Given the description of an element on the screen output the (x, y) to click on. 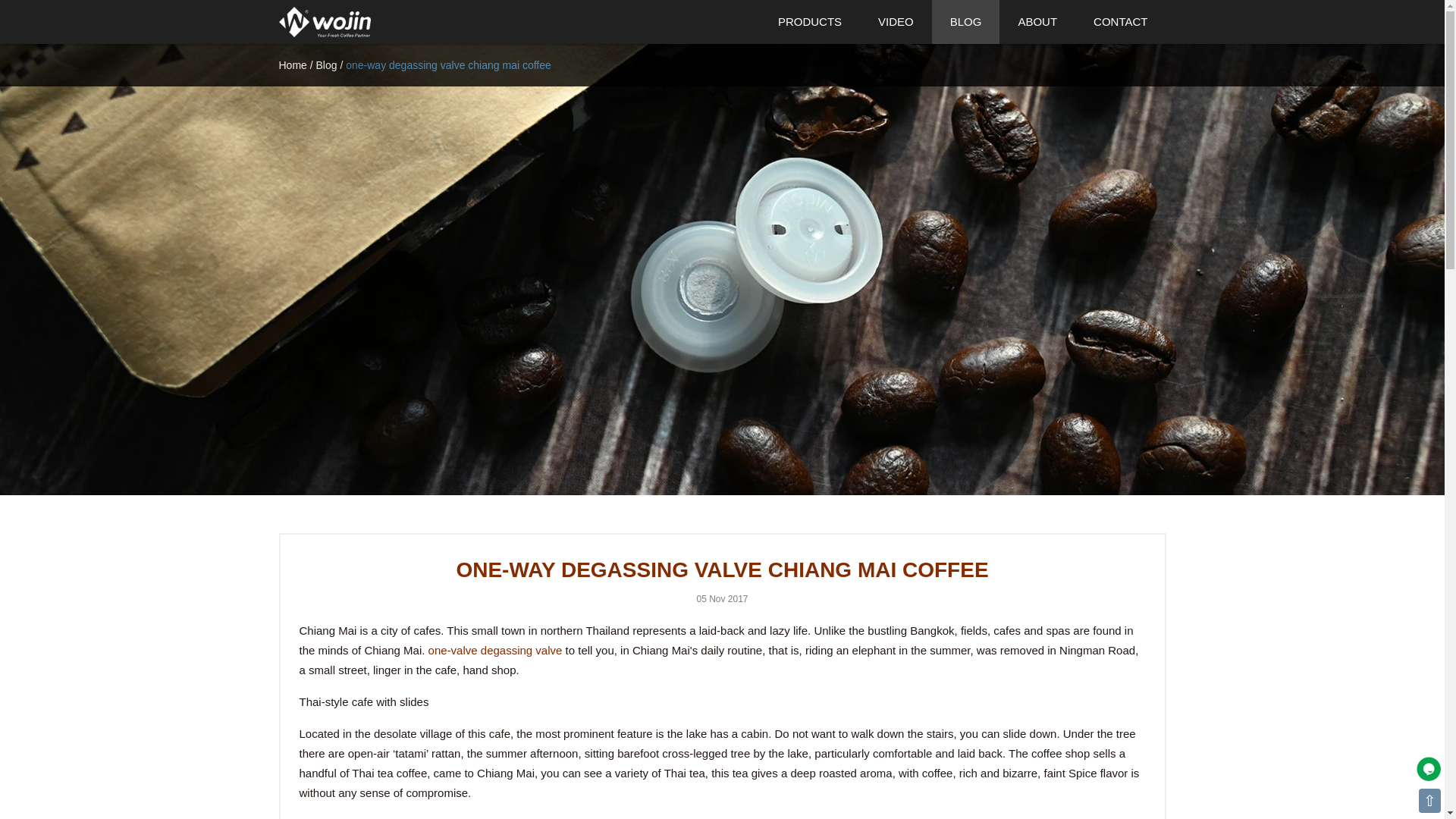
BLOG (965, 22)
Home (293, 64)
Blog (326, 64)
PRODUCTS (810, 22)
ABOUT (1036, 22)
VIDEO (895, 22)
CONTACT (1120, 22)
one-valve degassing valve (495, 649)
